Given the description of an element on the screen output the (x, y) to click on. 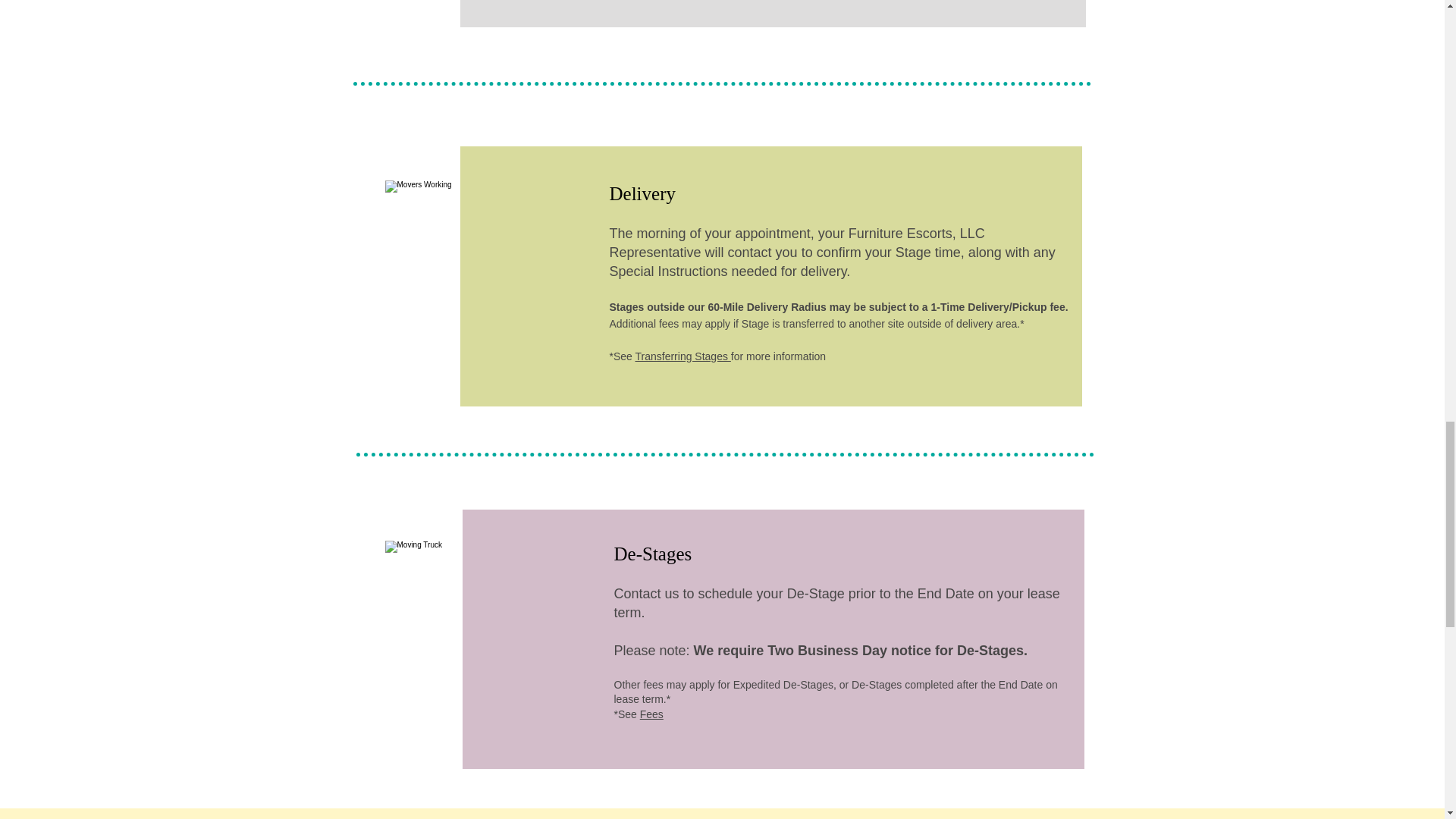
Fees (651, 714)
Transferring Stages  (682, 356)
